Given the description of an element on the screen output the (x, y) to click on. 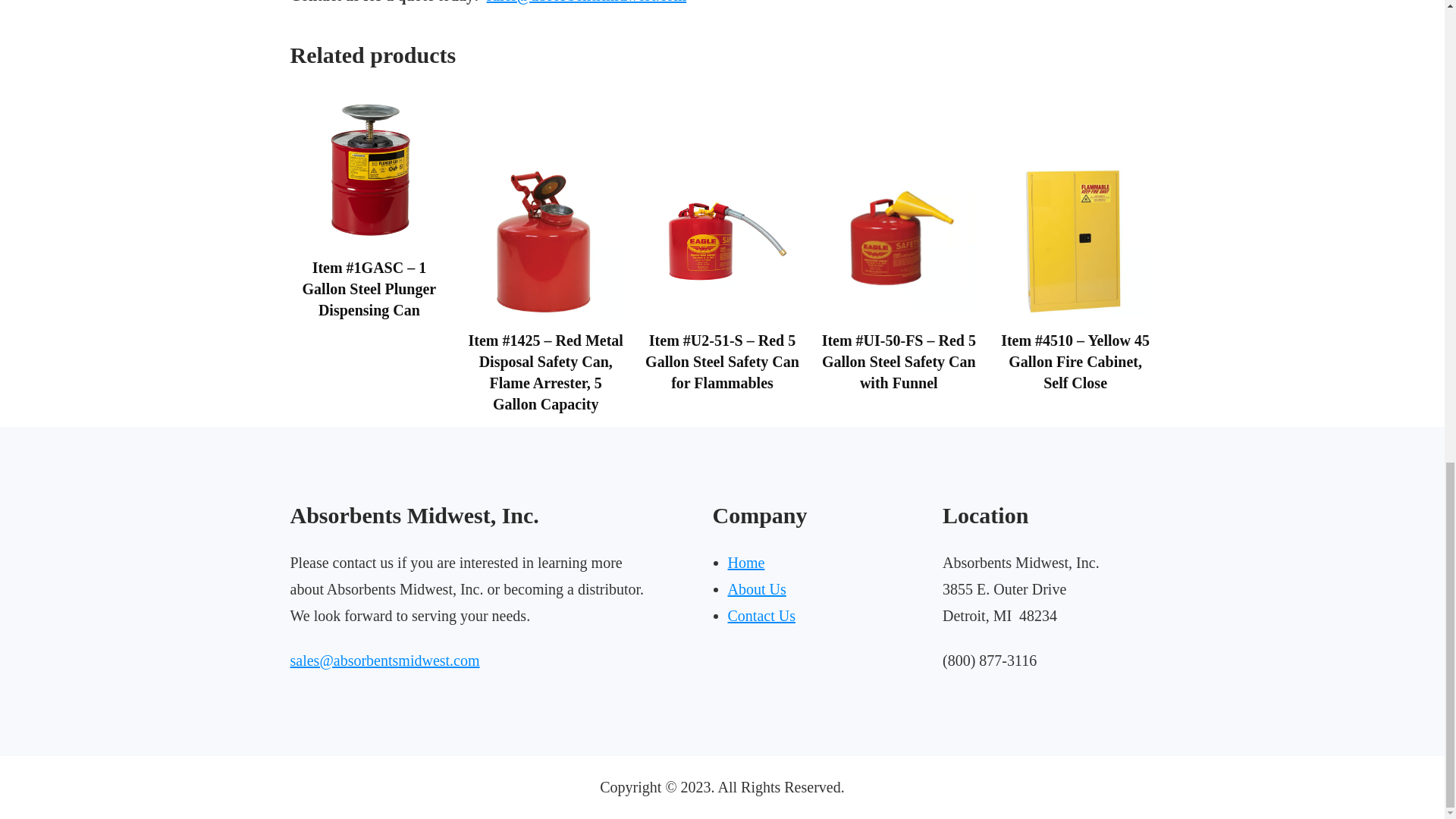
Home (746, 562)
Contact Us (761, 615)
About Us (757, 588)
